Given the description of an element on the screen output the (x, y) to click on. 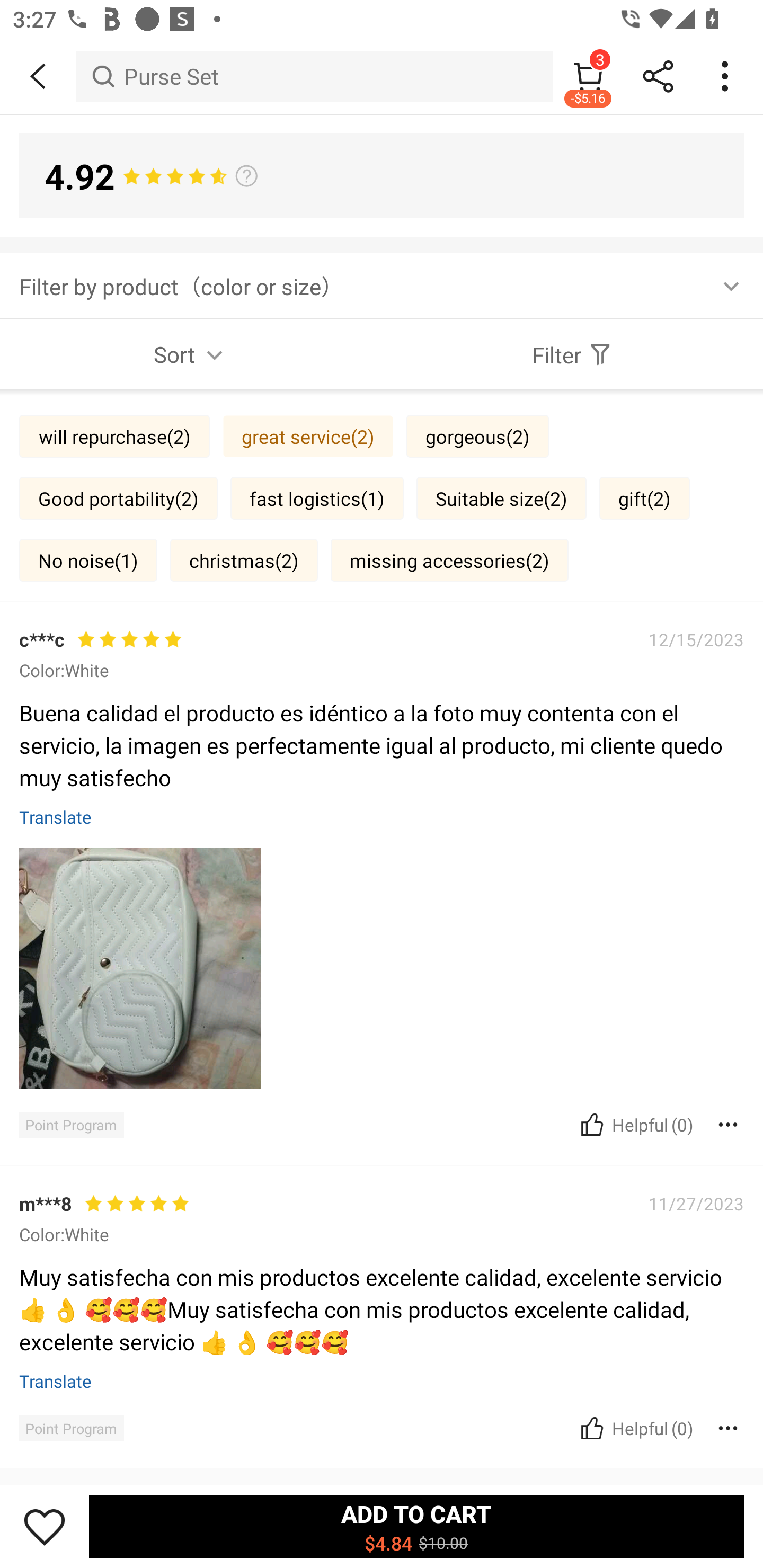
BACK (38, 75)
3 -$5.16 (588, 75)
Purse Set (314, 75)
Filter by product（color or size） (381, 285)
Sort (190, 353)
Filter (572, 353)
will repurchase(2) (114, 436)
great service(2) (307, 436)
gorgeous(2) (477, 436)
Good portability(2) (118, 497)
fast logistics(1) (316, 497)
Suitable size(2) (501, 497)
gift(2) (643, 497)
No noise(1) (88, 560)
christmas(2) (244, 560)
missing accessories(2) (449, 560)
View more (381, 662)
Reviews‎ (100‎+) View All 4.92 Average rating4.92 (381, 770)
Translate (55, 816)
Cancel Helpful Was this article helpful? (0) (634, 1124)
Point Program (71, 1124)
b***e Rating5.0 11/22/2023 Color:Black (381, 1202)
Translate (55, 1380)
Cancel Helpful Was this article helpful? (0) (634, 1428)
Point Program (71, 1427)
ADD TO CART $4.84 $10.00 (416, 1526)
Save (44, 1526)
